Given the description of an element on the screen output the (x, y) to click on. 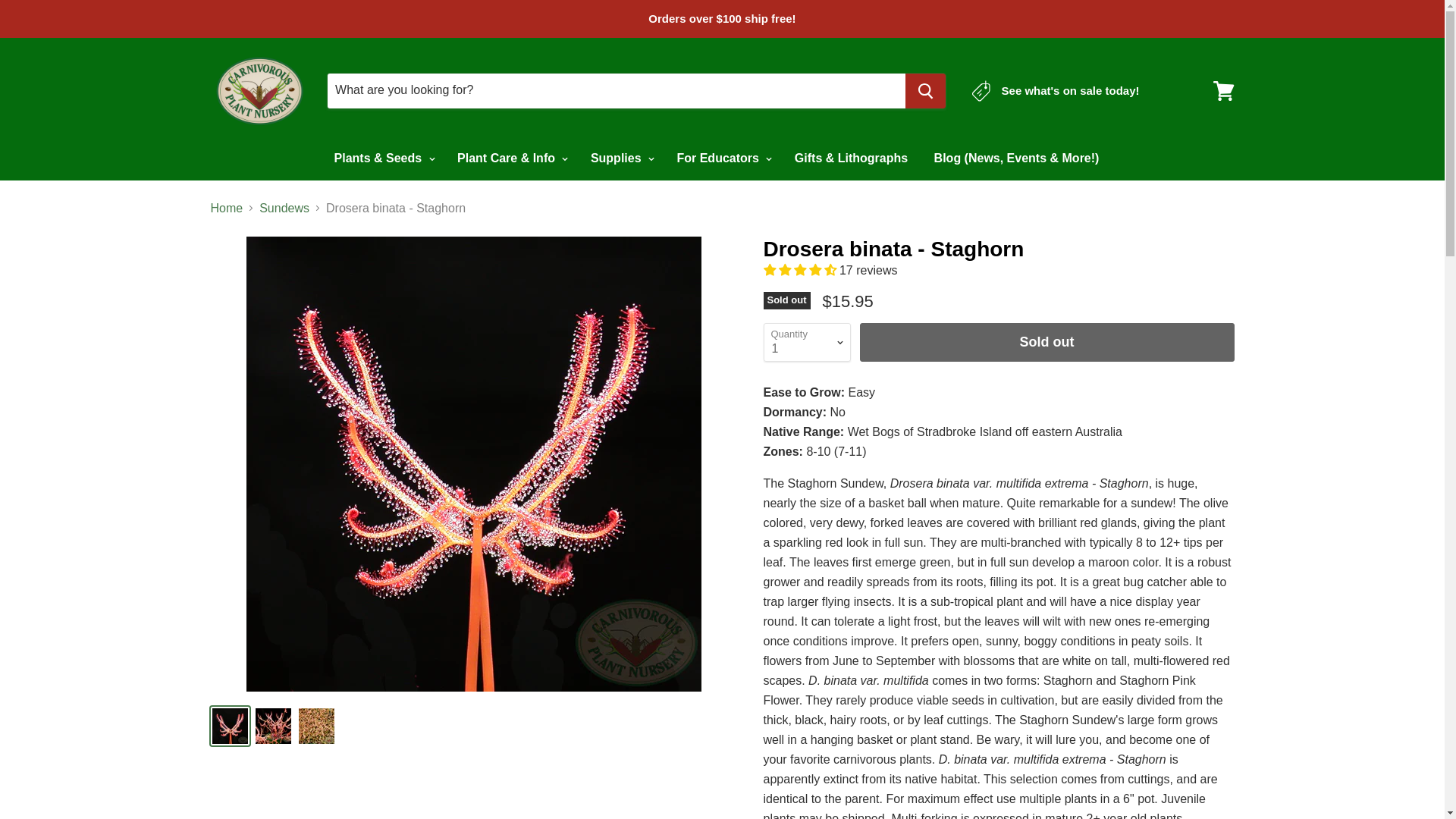
See what's on sale today! (1056, 90)
View cart (1223, 89)
